Given the description of an element on the screen output the (x, y) to click on. 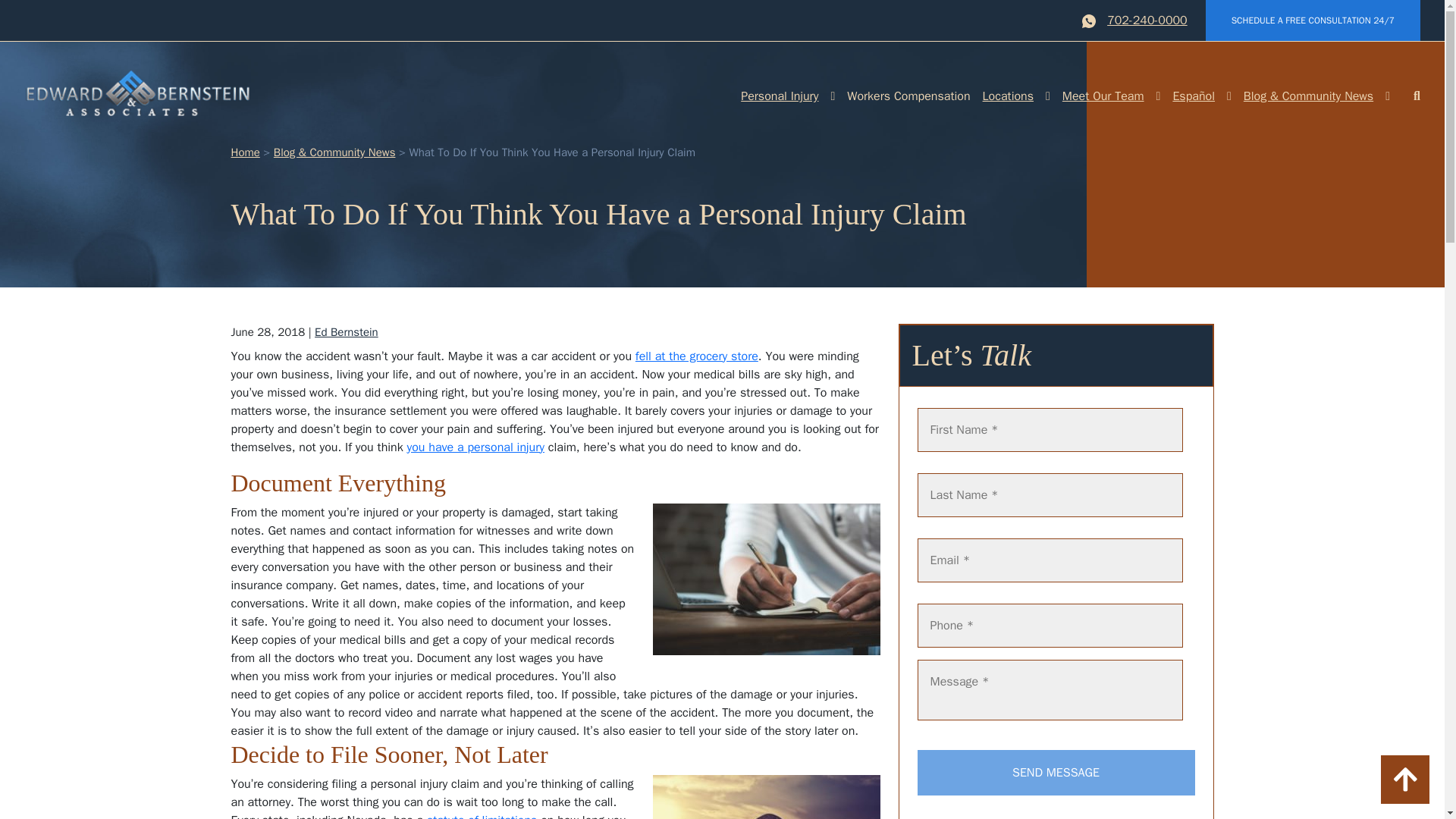
Personal Injury (779, 96)
Locations (1007, 96)
Workers Compensation (908, 96)
Meet Our Team (1103, 96)
702-240-0000 (1147, 20)
Workers Compensation (908, 96)
